Given the description of an element on the screen output the (x, y) to click on. 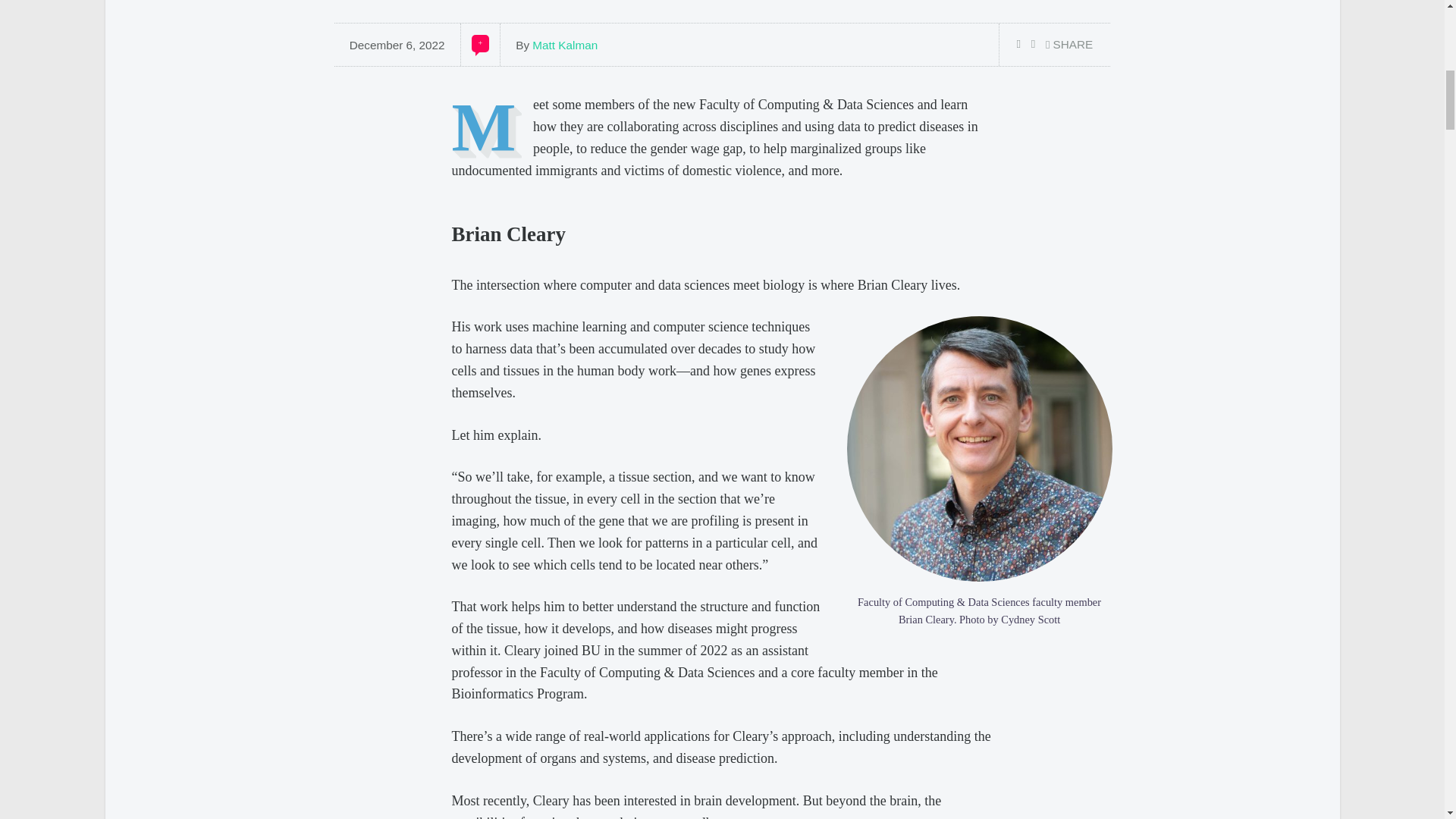
Matt Kalman (564, 44)
